Given the description of an element on the screen output the (x, y) to click on. 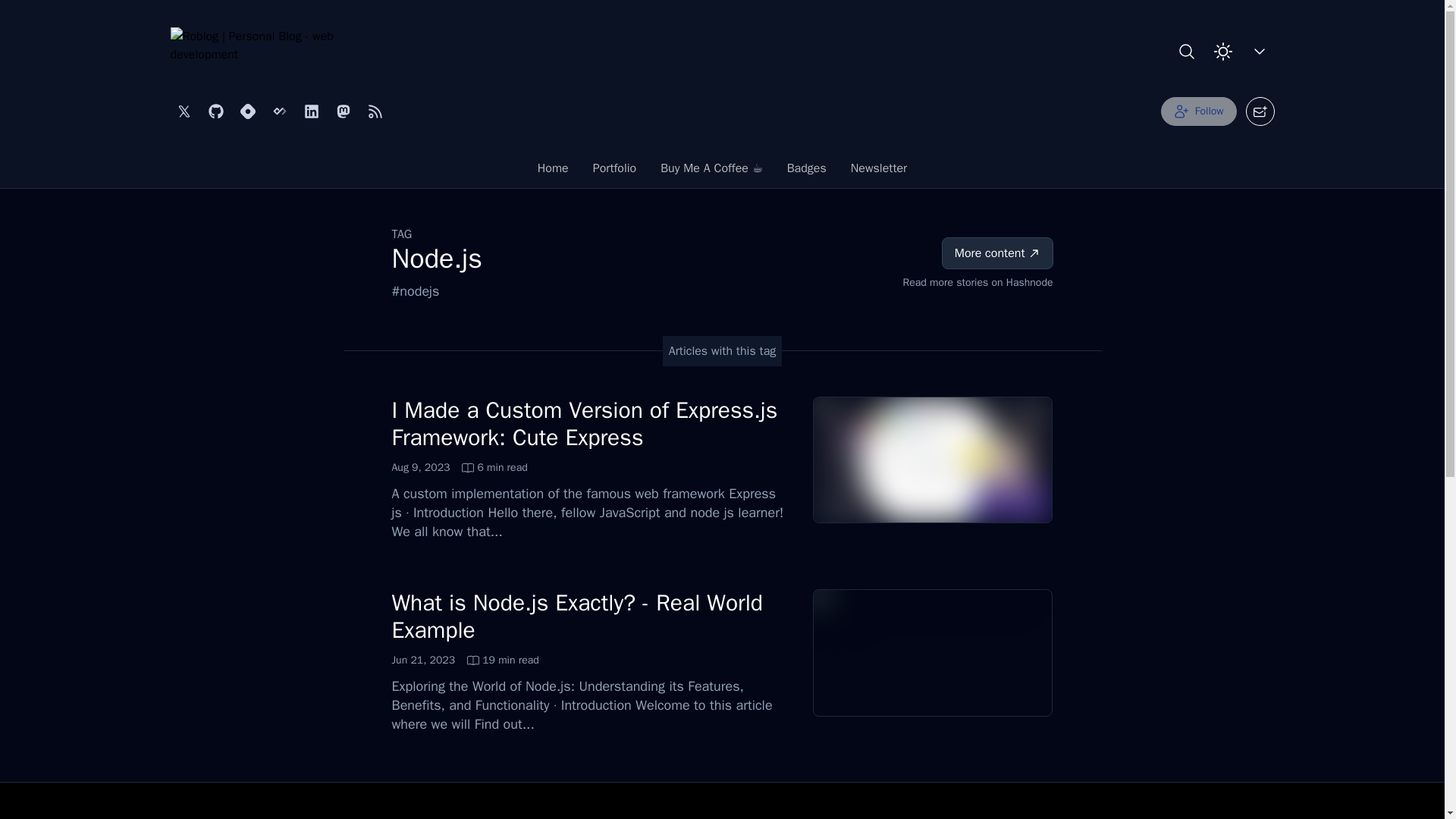
Follow (1198, 111)
What is Node.js Exactly? - Real World Example (576, 616)
Portfolio (464, 660)
Home (614, 172)
Newsletter (552, 172)
More content (459, 467)
Badges (878, 172)
